Given the description of an element on the screen output the (x, y) to click on. 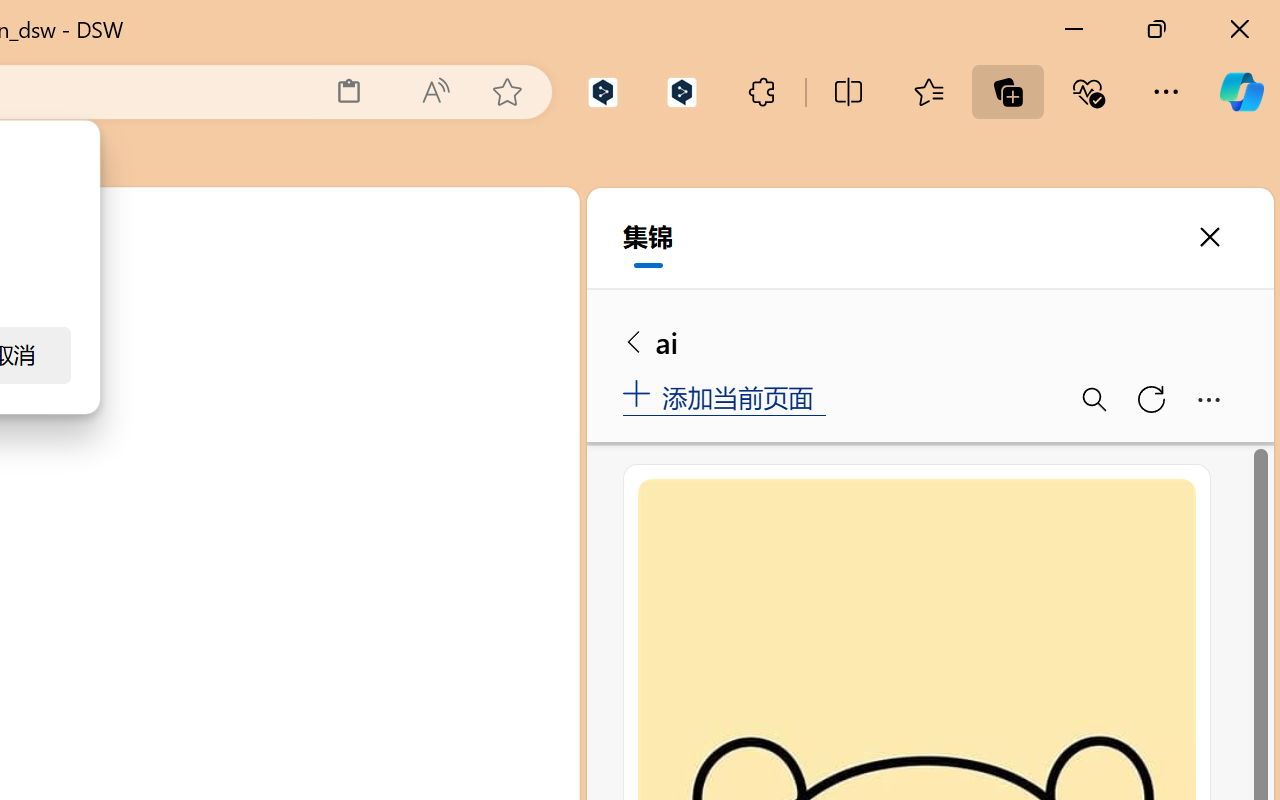
icon (436, 220)
Restore Panel Size (488, 357)
Toggle Secondary Side Bar (Ctrl+Alt+B) (506, 294)
Terminal 3 bash (470, 488)
Customize Layout... (553, 294)
Class: actions-container (516, 358)
Terminal 1 bash (470, 409)
Title actions (484, 294)
Copilot (Ctrl+Shift+.) (1241, 91)
